Given the description of an element on the screen output the (x, y) to click on. 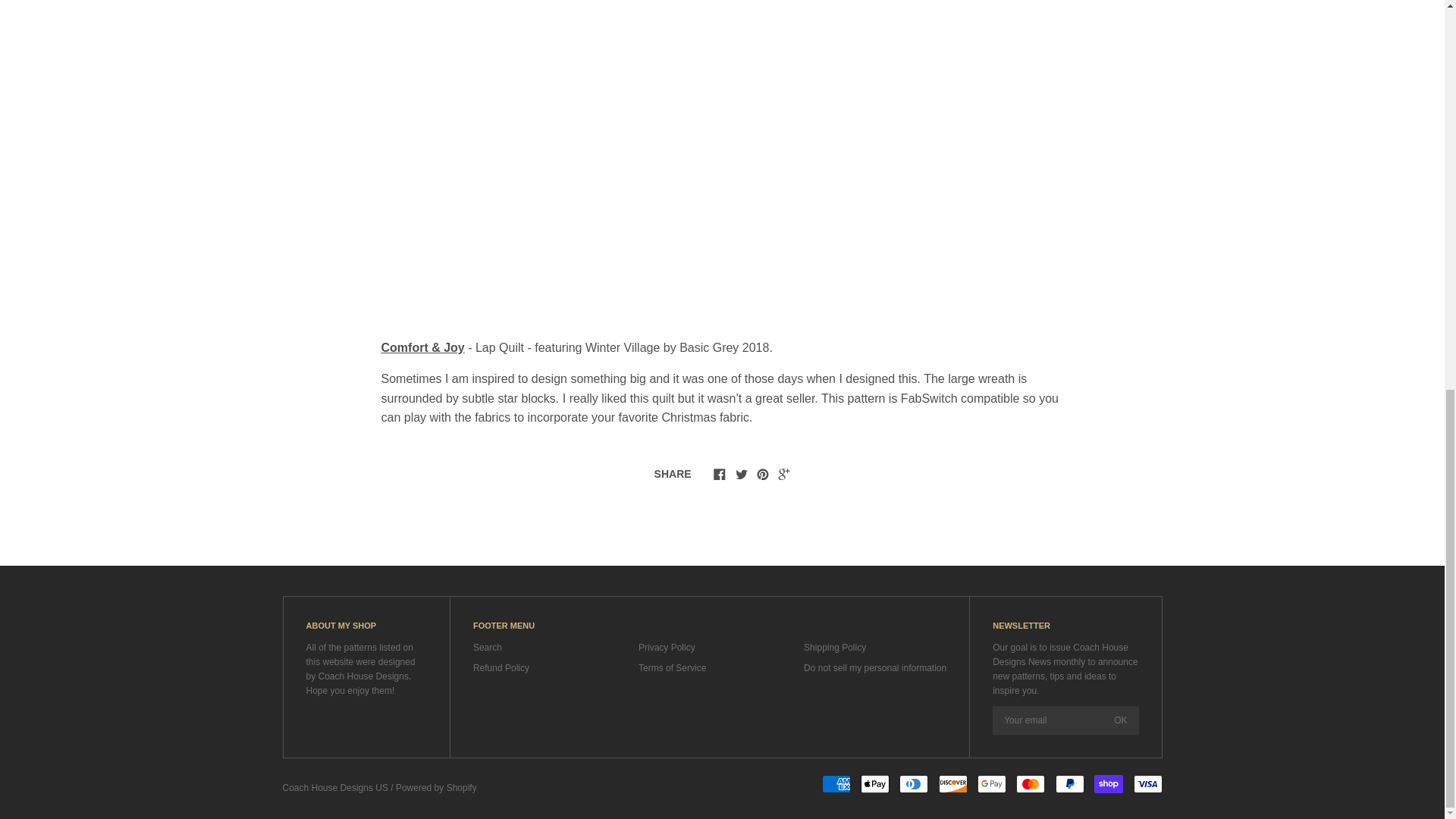
OK (1120, 719)
Shop Pay (1108, 783)
Discover (953, 783)
Apple Pay (874, 783)
Google Pay (991, 783)
Facebook (719, 473)
Visa (1146, 783)
Pinterest (762, 473)
Twitter (741, 473)
PayPal (1069, 783)
Mastercard (1030, 783)
American Express (836, 783)
Diners Club (913, 783)
